Given the description of an element on the screen output the (x, y) to click on. 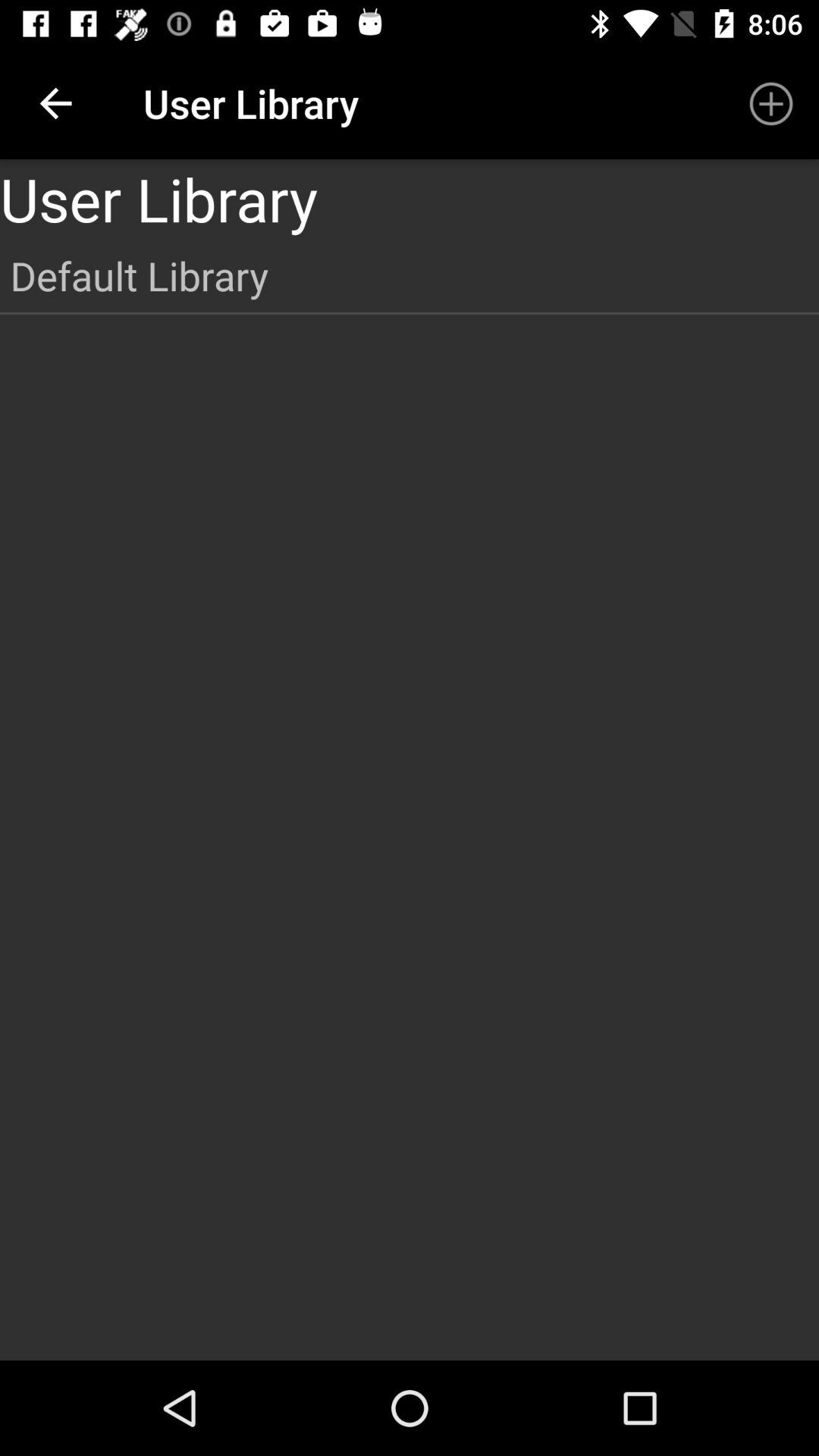
turn on the app to the left of user library item (55, 103)
